Given the description of an element on the screen output the (x, y) to click on. 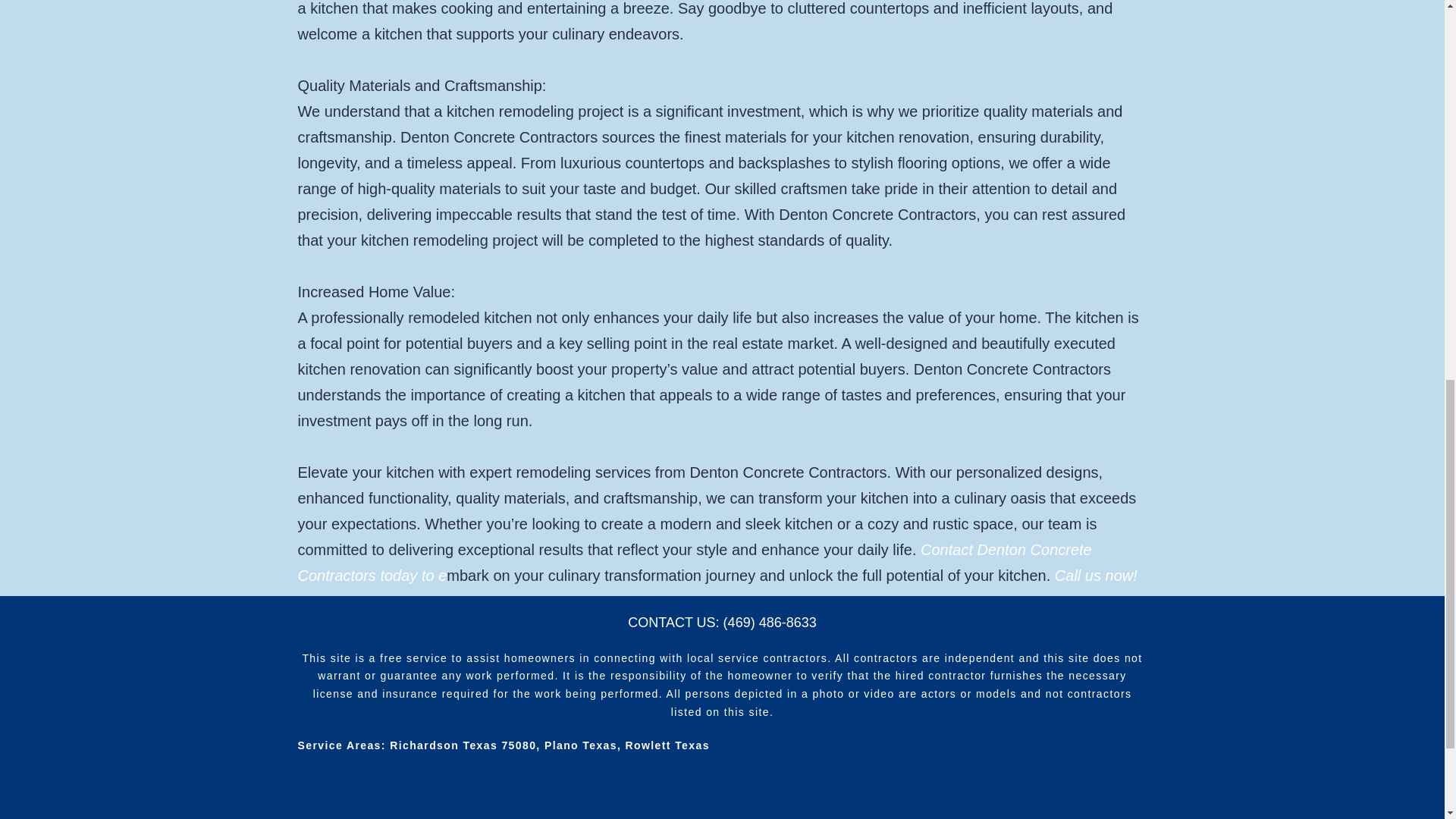
LewisvilleTexas (722, 794)
Contact Denton Concrete Contractors today to e (693, 562)
Call us now! (1095, 575)
